Given the description of an element on the screen output the (x, y) to click on. 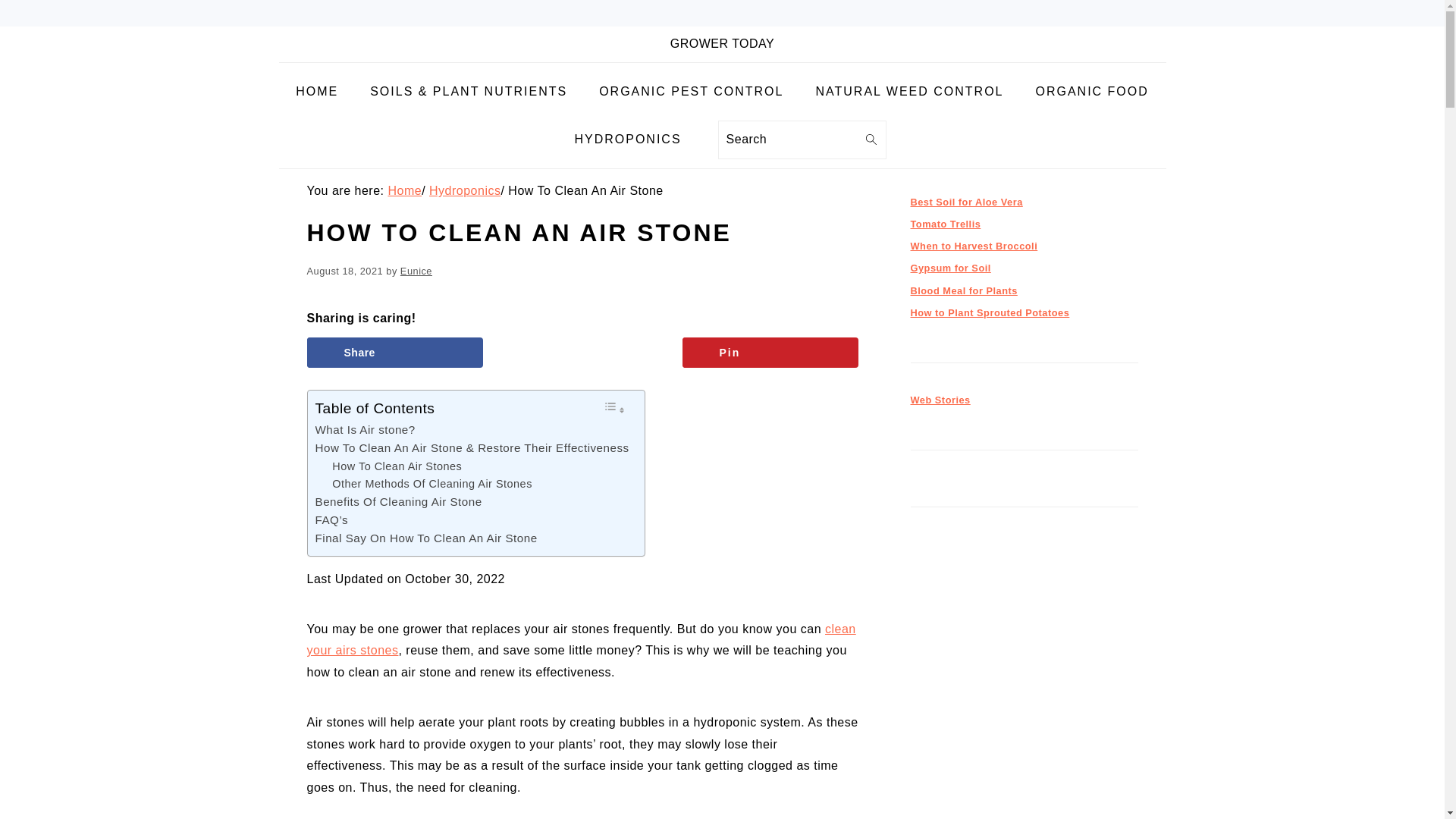
Pin (770, 352)
Final Say On How To Clean An Air Stone (426, 538)
Final Say On How To Clean An Air Stone (426, 538)
Tweet (583, 352)
GROWER TODAY (721, 42)
Other Methods Of Cleaning Air Stones (431, 484)
How To Clean Air Stones (396, 466)
clean your airs stones (580, 638)
ORGANIC FOOD (1091, 91)
Eunice (416, 270)
Benefits Of Cleaning Air Stone (398, 502)
What Is Air stone? (364, 429)
Share on Facebook (394, 352)
